Given the description of an element on the screen output the (x, y) to click on. 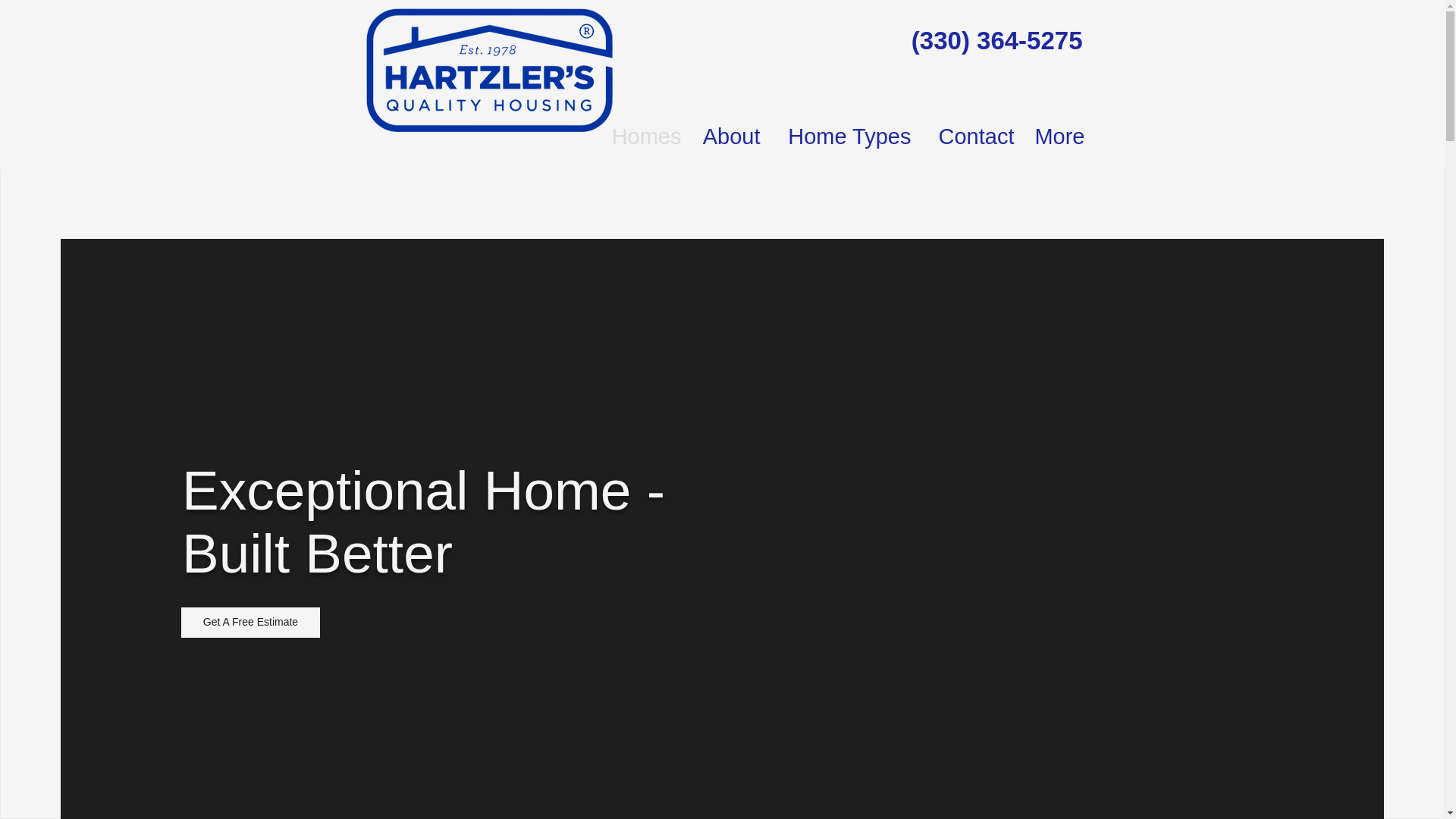
Home Types (842, 134)
Get A Free Estimate (250, 622)
About (727, 134)
Homes (641, 134)
Contact (970, 134)
